Given the description of an element on the screen output the (x, y) to click on. 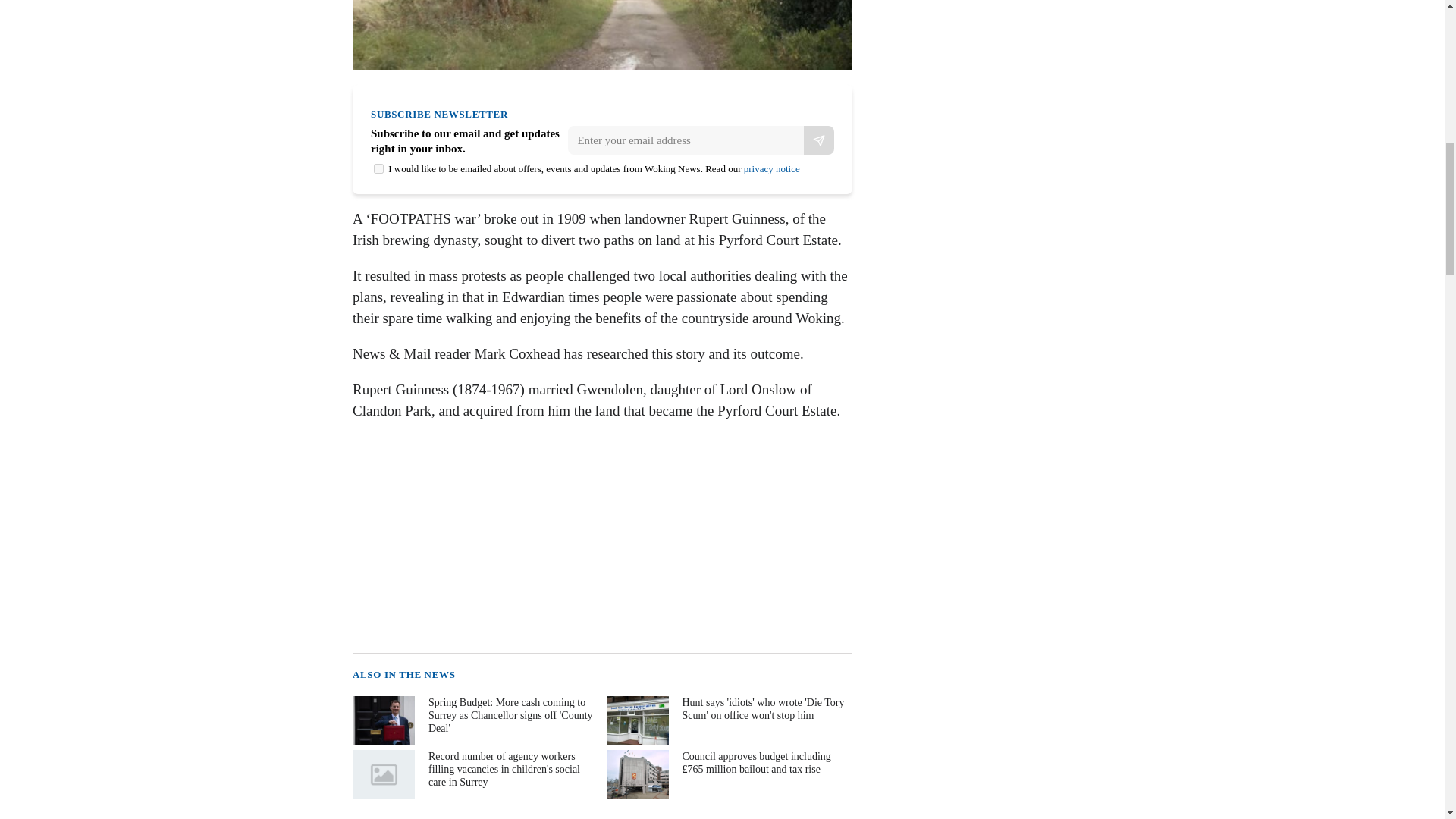
privacy notice (771, 168)
